Given the description of an element on the screen output the (x, y) to click on. 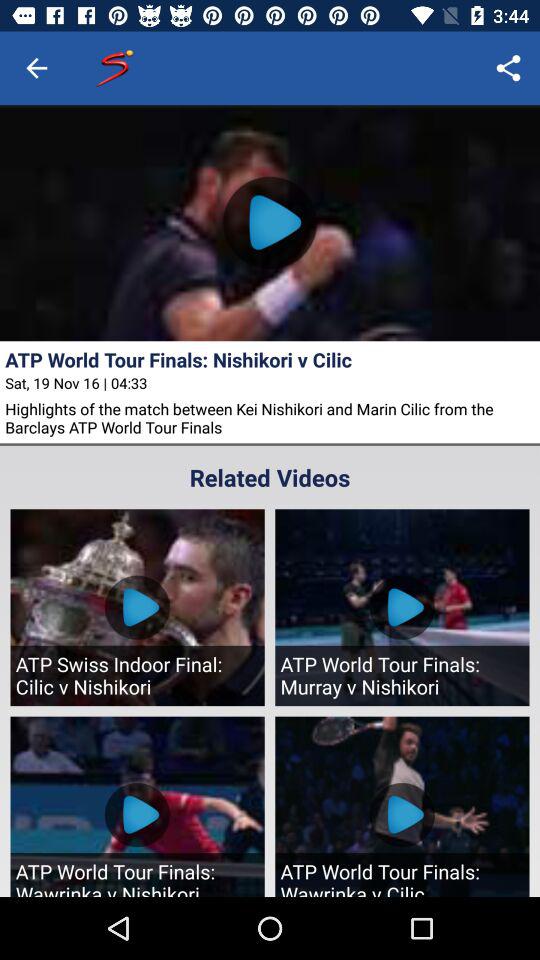
press the item at the top right corner (508, 67)
